Given the description of an element on the screen output the (x, y) to click on. 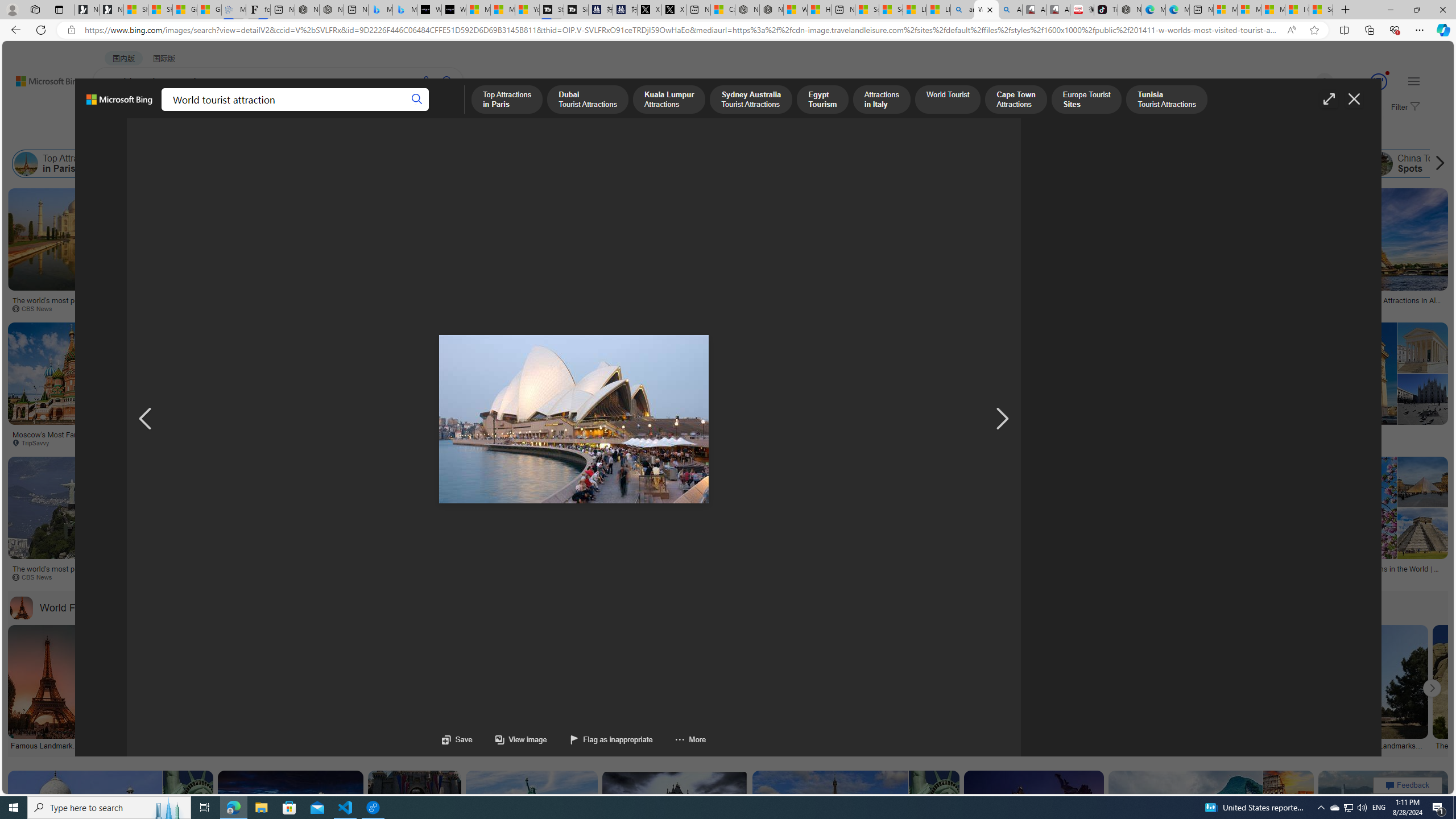
Big Ben Snow Globe (727, 296)
Eugene (1307, 81)
PlanetWare (1361, 576)
Nordace - Best Sellers (1129, 9)
farandwide.com (1027, 576)
CBS News (750, 576)
What's the best AI voice generator? - voice.ai (453, 9)
Moscow's Most Famous Sites and Attractions for Visitors (97, 438)
